Given the description of an element on the screen output the (x, y) to click on. 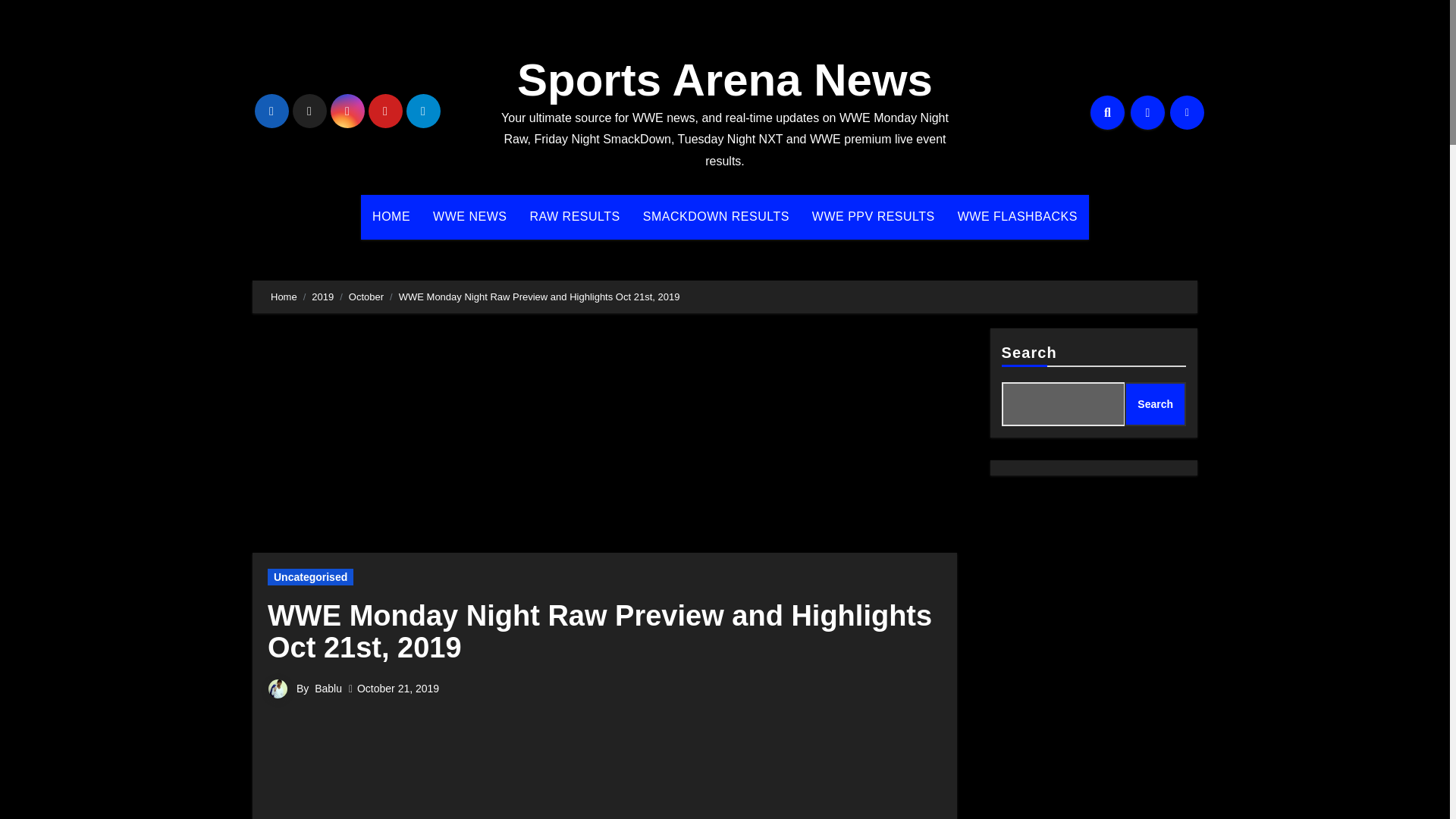
Bablu (328, 688)
WWE PPV RESULTS (873, 216)
WWE NEWS (470, 216)
WWE PPV RESULTS (873, 216)
WWE FLASHBACKS (1017, 216)
SMACKDOWN RESULTS (715, 216)
RAW RESULTS (574, 216)
WWE NEWS (470, 216)
HOME (391, 216)
WWE Monday Night Raw Preview and Highlights Oct 21st, 2019 (599, 631)
Uncategorised (310, 576)
RAW RESULTS (574, 216)
Sports Arena News (724, 79)
October 21, 2019 (397, 688)
